Given the description of an element on the screen output the (x, y) to click on. 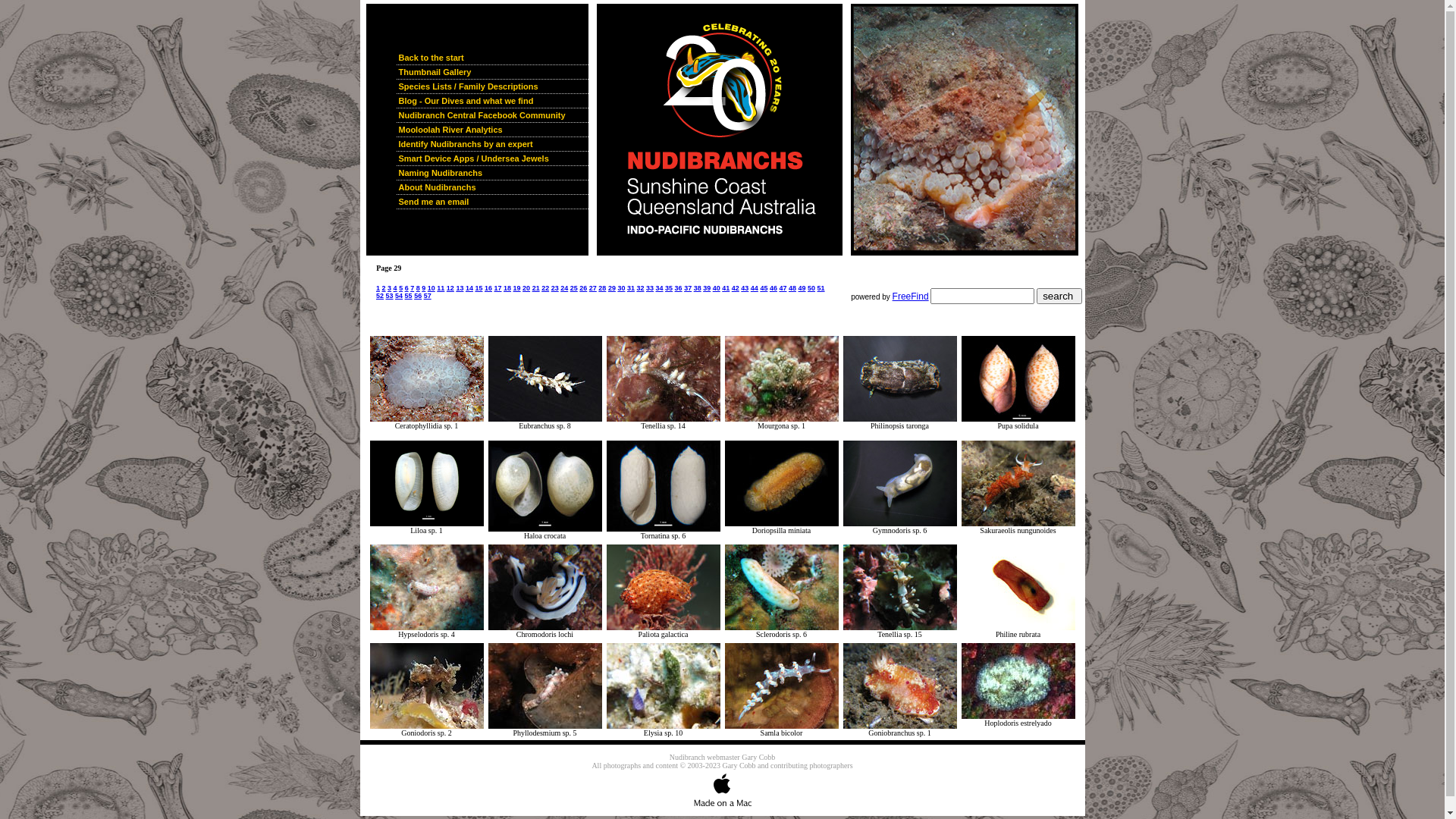
About Nudibranchs Element type: text (491, 187)
pages Element type: hover (603, 302)
Nudibranch Central Facebook Community Element type: text (491, 114)
Naming Nudibranchs Element type: text (491, 172)
Back to the start Element type: text (491, 57)
FreeFind Element type: text (910, 296)
Thumbnail Gallery Element type: text (491, 72)
Species Lists / Family Descriptions Element type: text (491, 85)
Smart Device Apps / Undersea Jewels Element type: text (491, 158)
8 Element type: hover (964, 128)
                       Element type: text (1028, 234)
Mooloolah River Analytics Element type: text (491, 129)
Send me an email Element type: text (491, 201)
Blog - Our Dives and what we find Element type: text (491, 101)
Nudibranch webmaster Gary Cobb Element type: text (722, 757)
7 Element type: hover (736, 128)
Identify Nudibranchs by an expert Element type: text (491, 143)
